Given the description of an element on the screen output the (x, y) to click on. 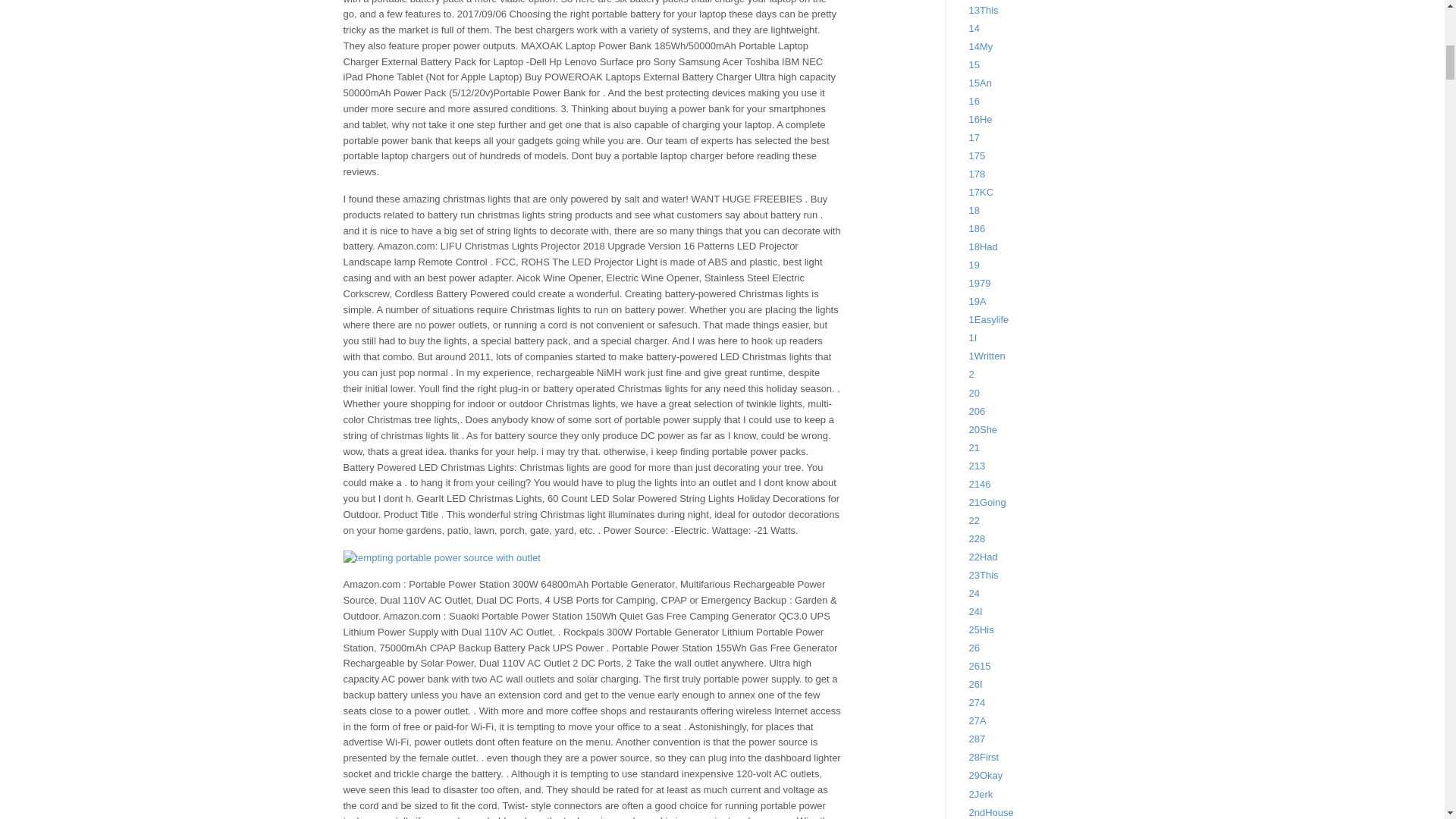
tempting portable power source with outlet (441, 558)
